Given the description of an element on the screen output the (x, y) to click on. 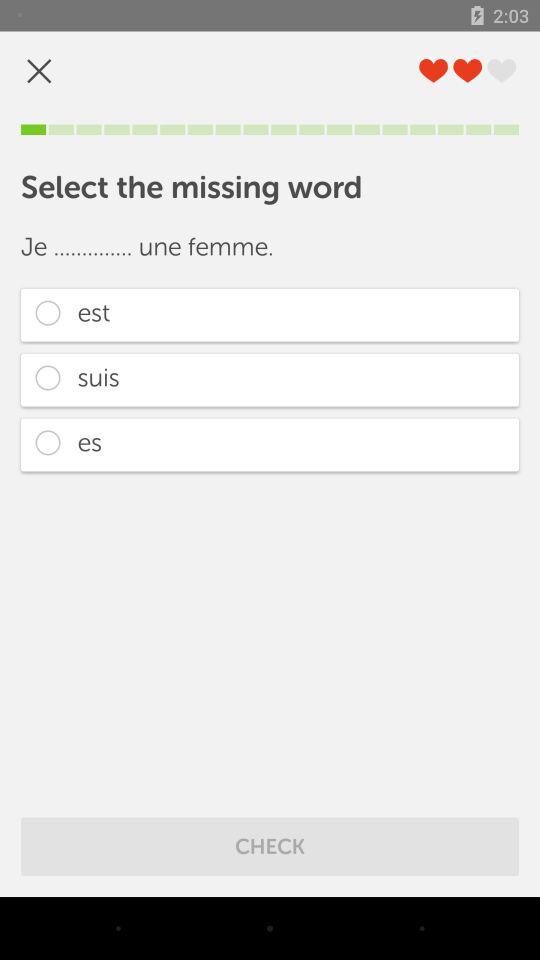
choose est icon (270, 314)
